Given the description of an element on the screen output the (x, y) to click on. 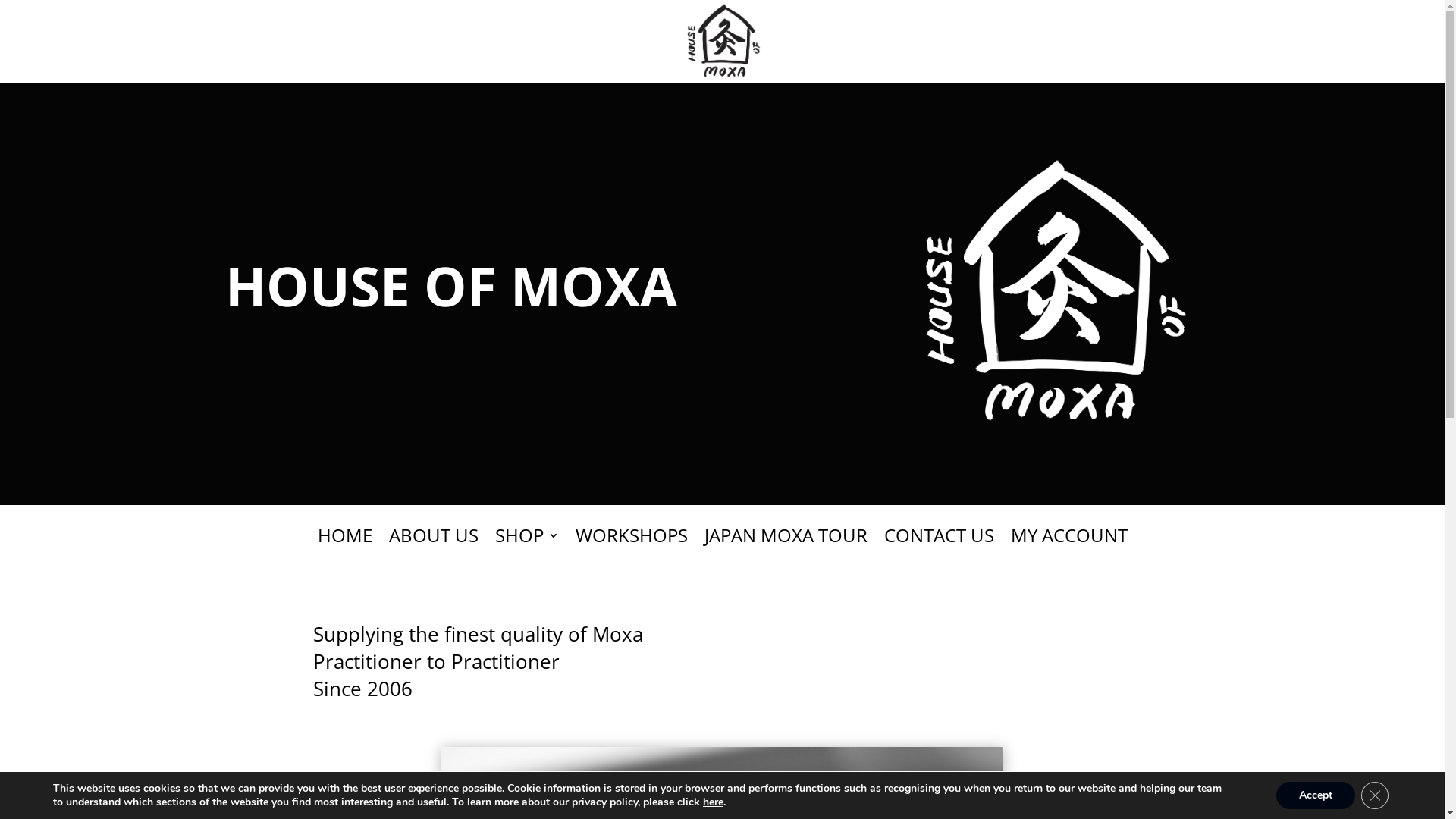
JAPAN MOXA TOUR Element type: text (784, 546)
MY ACCOUNT Element type: text (1068, 546)
WORKSHOPS Element type: text (630, 546)
HOME Element type: text (343, 546)
ABOUT US Element type: text (432, 546)
SHOP Element type: text (526, 546)
Close GDPR Cookie Banner Element type: text (1374, 795)
Accept Element type: text (1315, 795)
CONTACT US Element type: text (939, 546)
here Element type: text (712, 801)
